Given the description of an element on the screen output the (x, y) to click on. 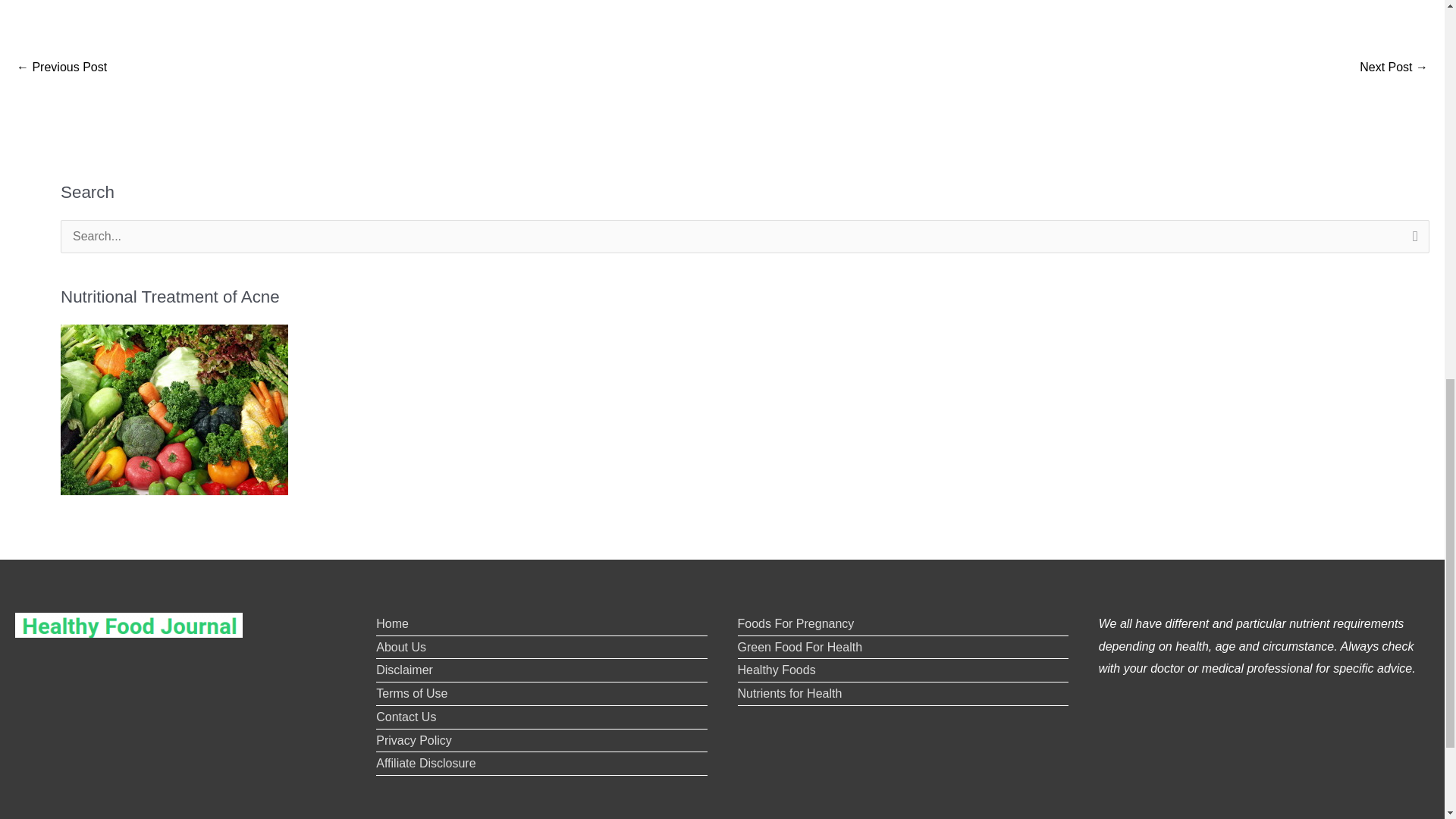
Terms of Use (410, 693)
About Us (400, 646)
Healthy Foods (775, 669)
Privacy Policy (413, 739)
What to Eat When Pregnant: Your First Trimester (1393, 68)
Nutrients for Health (788, 693)
Green Food For Health (798, 646)
Contact Us (405, 716)
Foods For Pregnancy (794, 623)
Exercises for Pregnant Women (61, 68)
Affiliate Disclosure (425, 762)
Home (392, 623)
Disclaimer (403, 669)
